Given the description of an element on the screen output the (x, y) to click on. 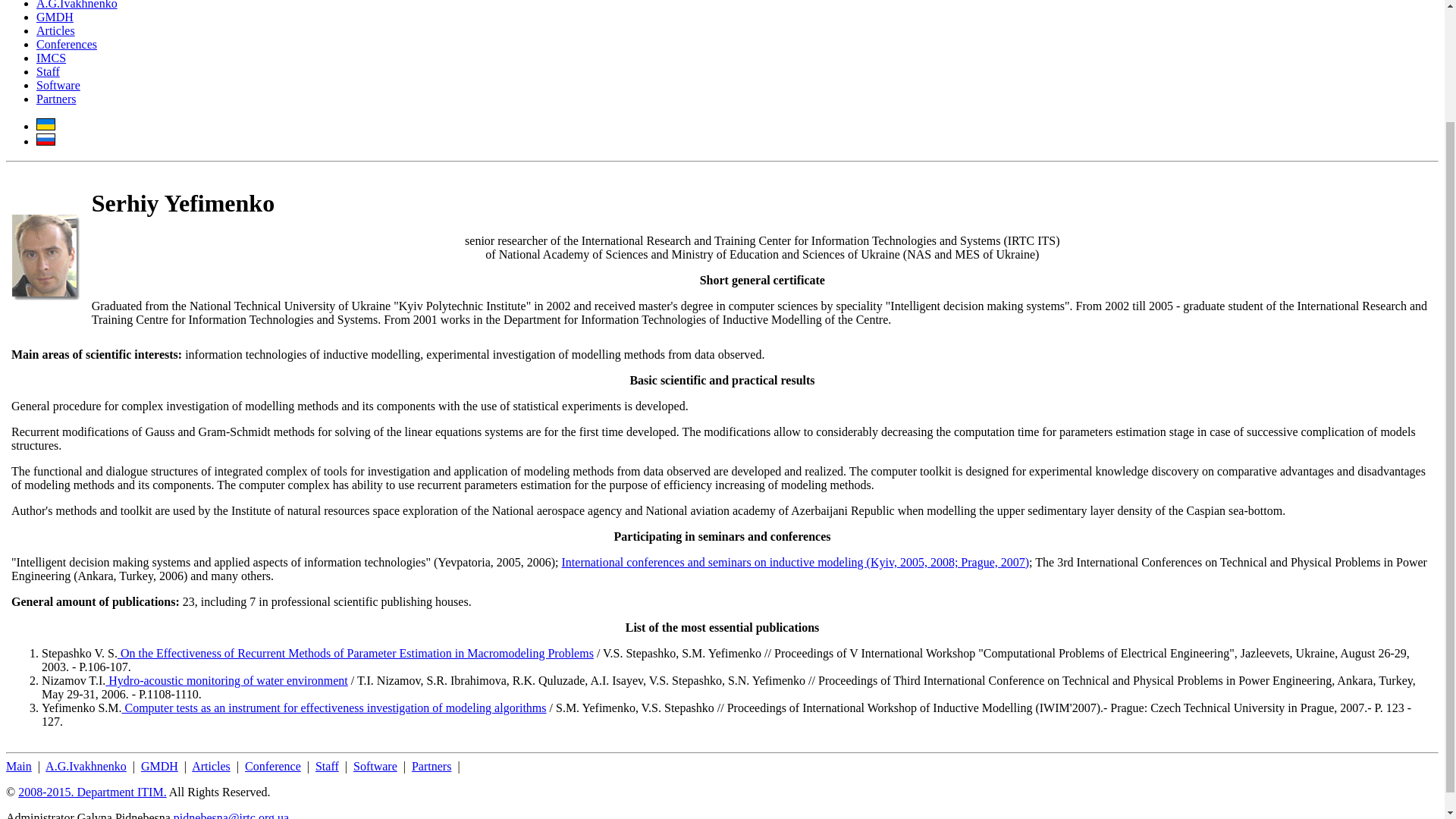
A.G.Ivakhnenko (85, 766)
Conference (272, 766)
GMDH (159, 766)
Software (58, 84)
Partners (55, 98)
2008-2015. Department ITIM. (92, 791)
GMDH (55, 16)
Conferences (66, 43)
Main (18, 766)
